Given the description of an element on the screen output the (x, y) to click on. 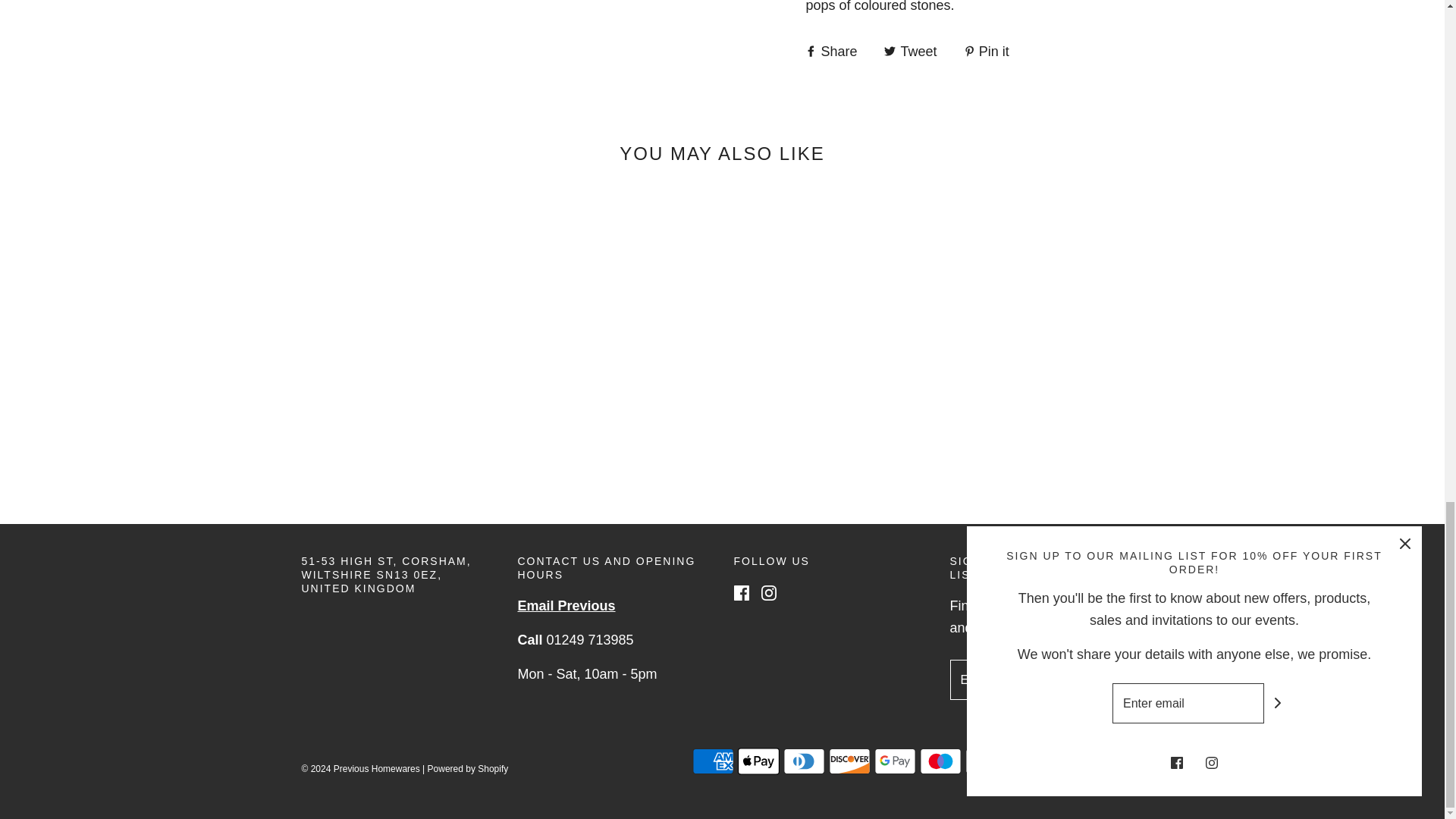
American Express (712, 761)
Instagram icon (768, 592)
Facebook icon (741, 592)
Contact Us (565, 605)
